Given the description of an element on the screen output the (x, y) to click on. 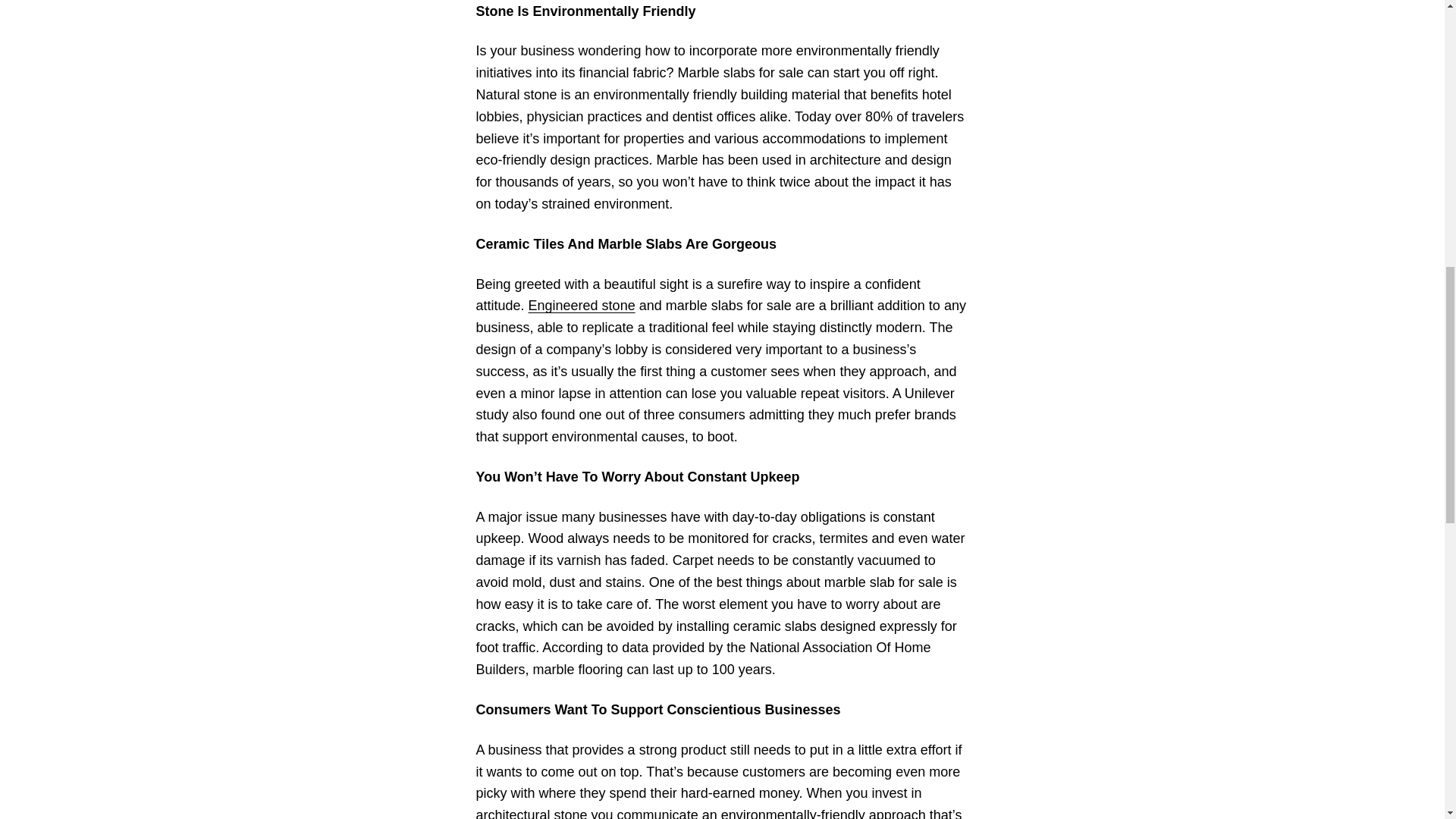
Another resource (581, 305)
architectural stone (532, 813)
Engineered stone (581, 305)
Ceramic slabs for sale florida (532, 813)
